Given the description of an element on the screen output the (x, y) to click on. 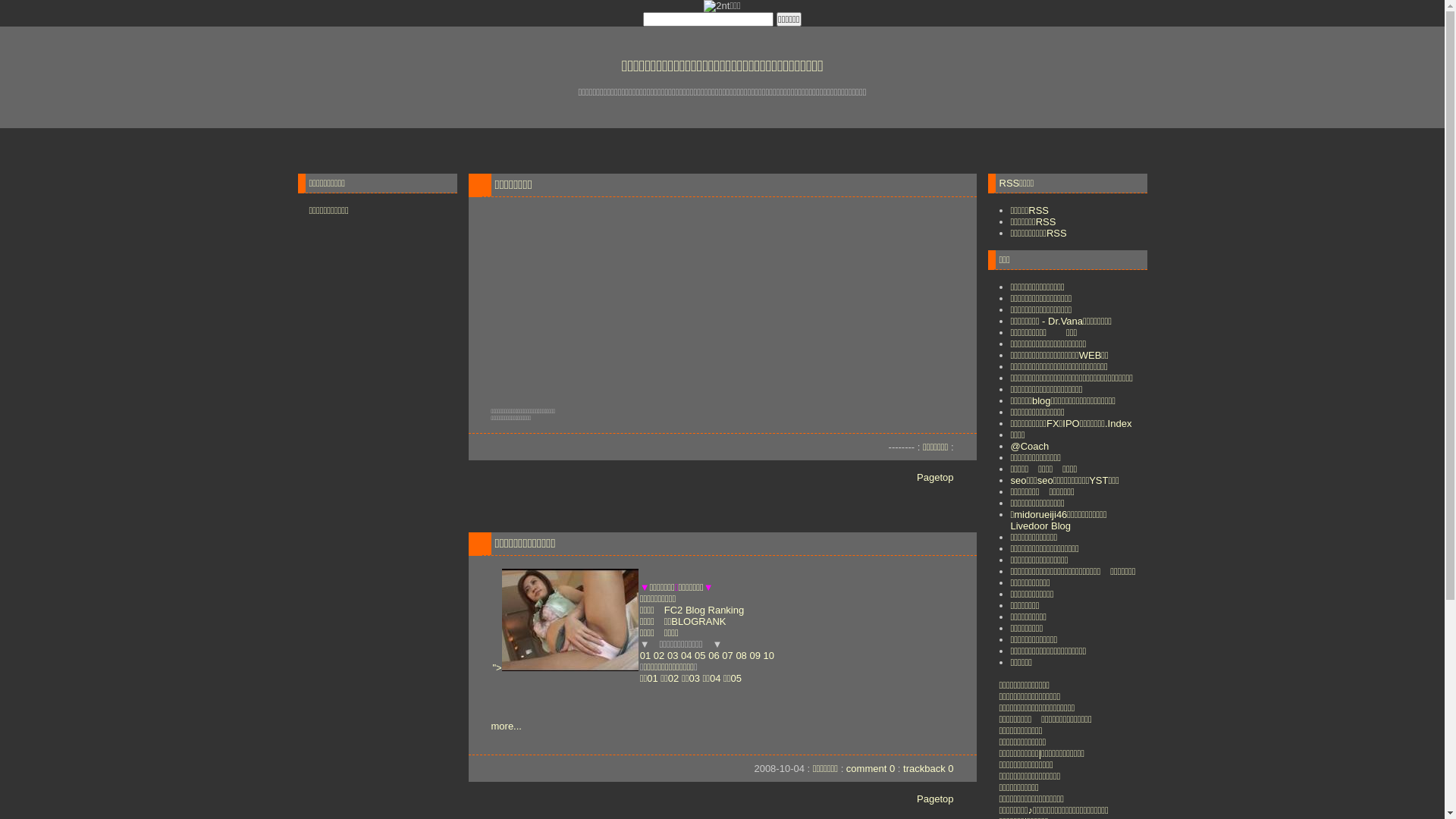
Pagetop Element type: text (934, 477)
Pagetop Element type: text (934, 798)
comment 0 Element type: text (870, 768)
06 Element type: text (713, 654)
03 Element type: text (672, 654)
more... Element type: text (506, 725)
05 Element type: text (699, 654)
08 Element type: text (740, 654)
trackback 0 Element type: text (928, 768)
02 Element type: text (658, 654)
04 Element type: text (685, 654)
07 Element type: text (726, 654)
"> Element type: text (565, 667)
09 Element type: text (754, 654)
@Coach Element type: text (1029, 445)
01 Element type: text (645, 654)
10 Element type: text (768, 654)
